Given the description of an element on the screen output the (x, y) to click on. 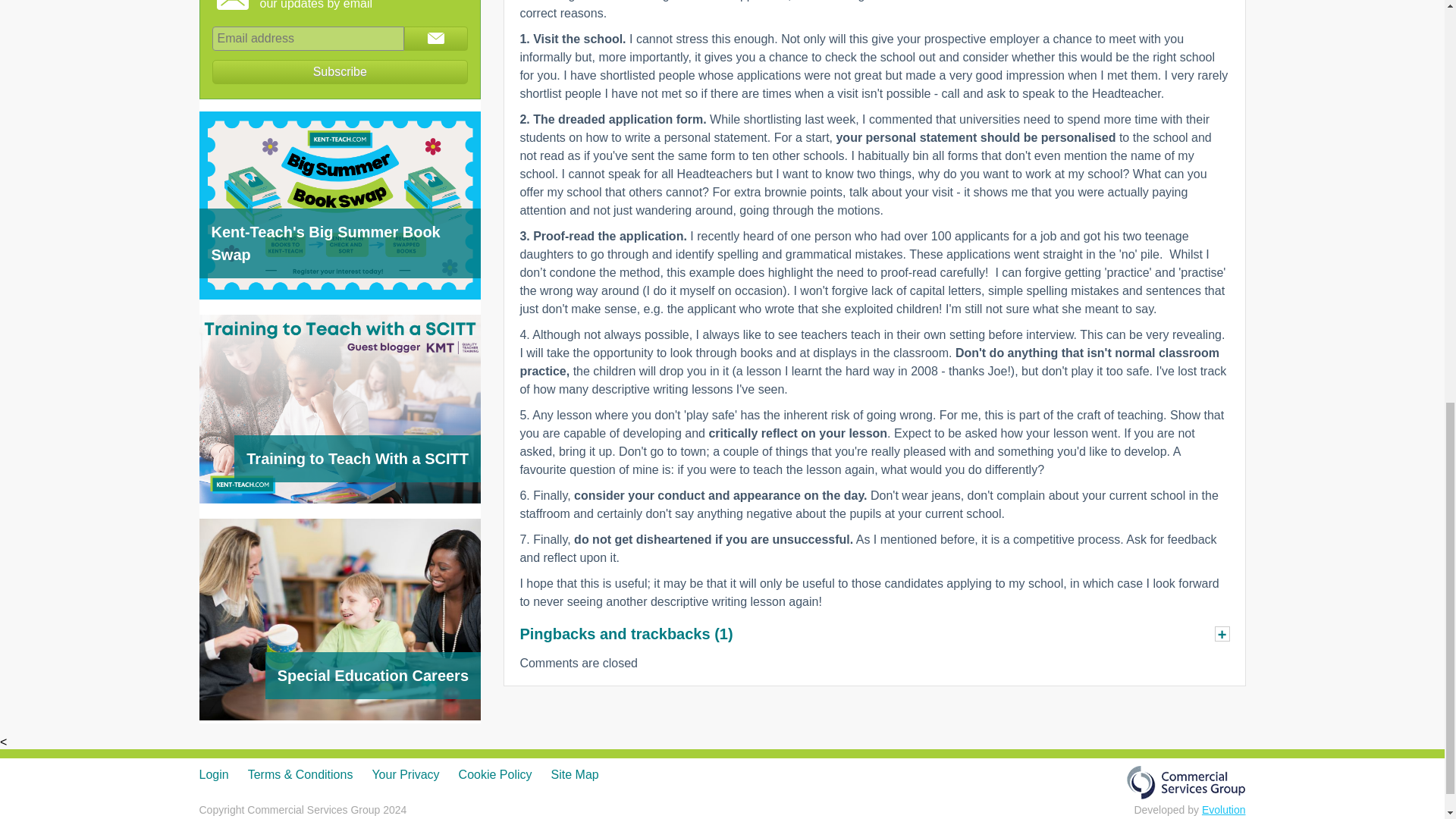
Subscribe (340, 71)
